Given the description of an element on the screen output the (x, y) to click on. 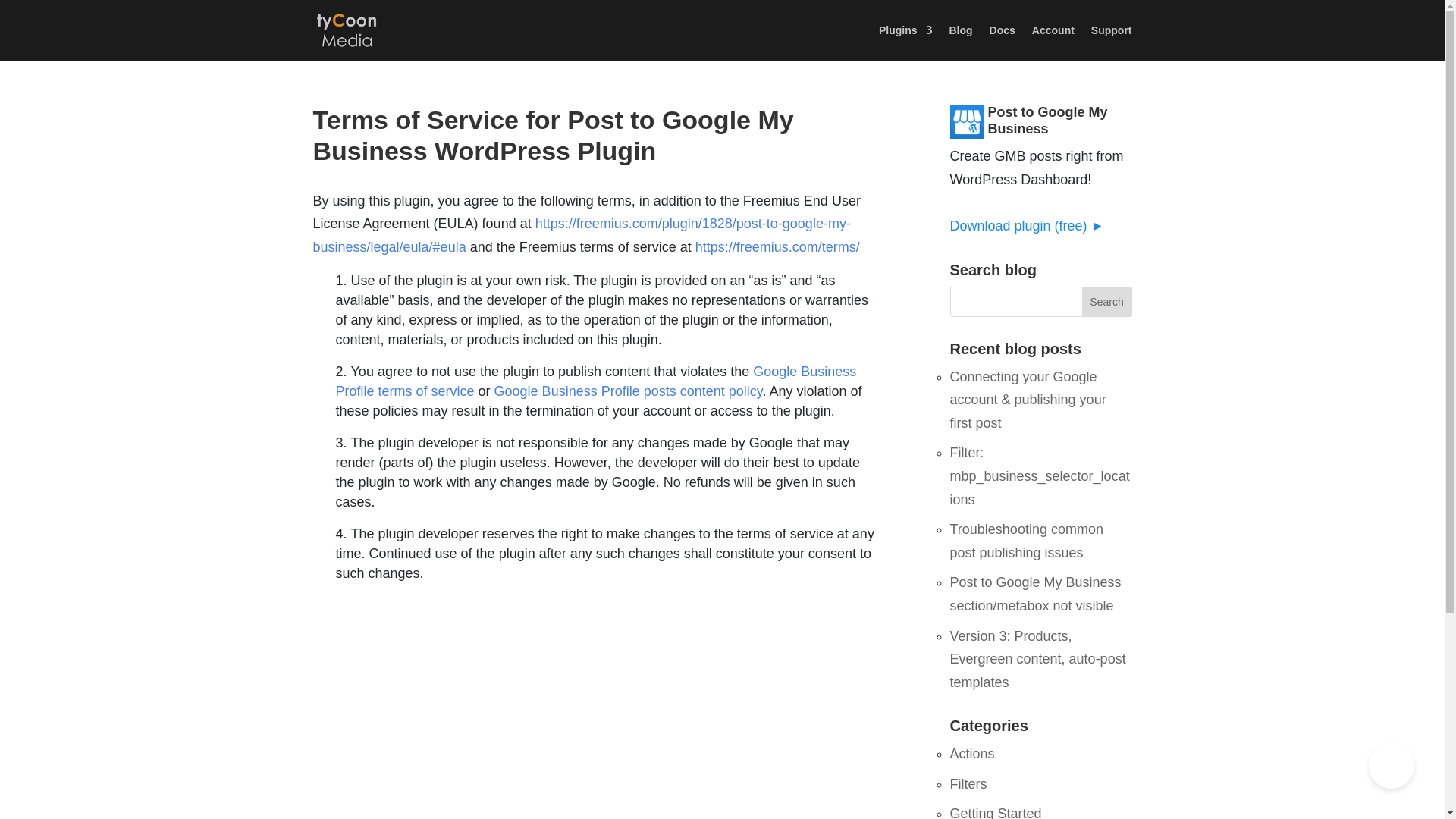
Getting Started (995, 812)
Account (1053, 42)
Support (1111, 42)
Search (1106, 301)
Search (1106, 301)
Google Business Profile terms of service (595, 380)
Plugins (906, 42)
Version 3: Products, Evergreen content, auto-post templates (1037, 658)
Actions (971, 753)
Google Business Profile posts content policy (628, 391)
